Given the description of an element on the screen output the (x, y) to click on. 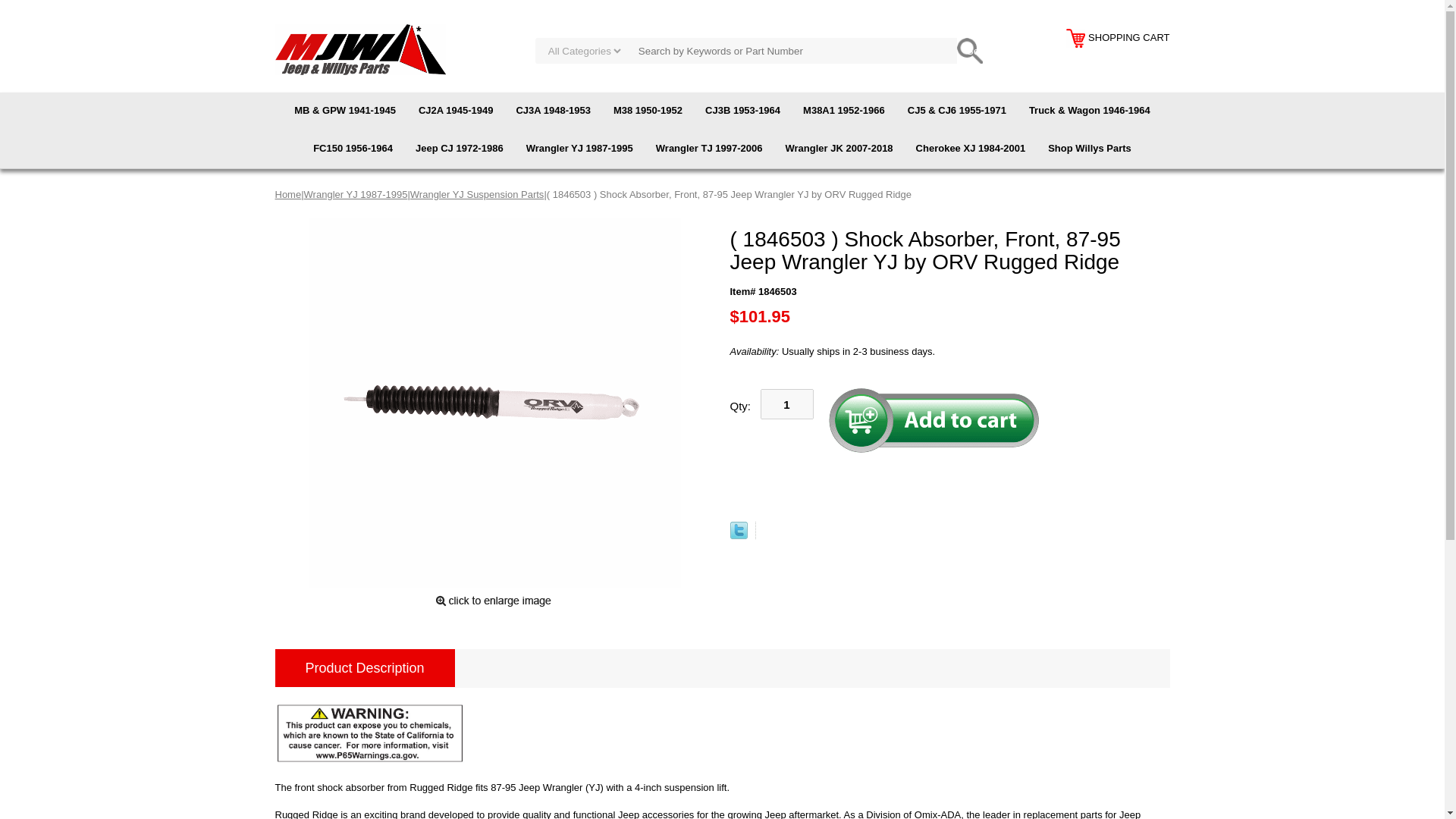
CJ2A 1945-1949 (456, 110)
M38 1950-1952 (648, 110)
Home (288, 194)
Search (969, 50)
CJ3B 1953-1964 (743, 110)
Wrangler YJ 1987-1995 (355, 194)
M38A1 1952-1966 (844, 110)
FC150 1956-1964 (352, 148)
Wrangler TJ 1997-2006 (709, 148)
SHOPPING CART (1117, 37)
1 (786, 404)
Wrangler YJ 1987-1995 (580, 148)
CJ3A 1948-1953 (552, 110)
Jeep CJ 1972-1986 (459, 148)
Search (969, 50)
